Given the description of an element on the screen output the (x, y) to click on. 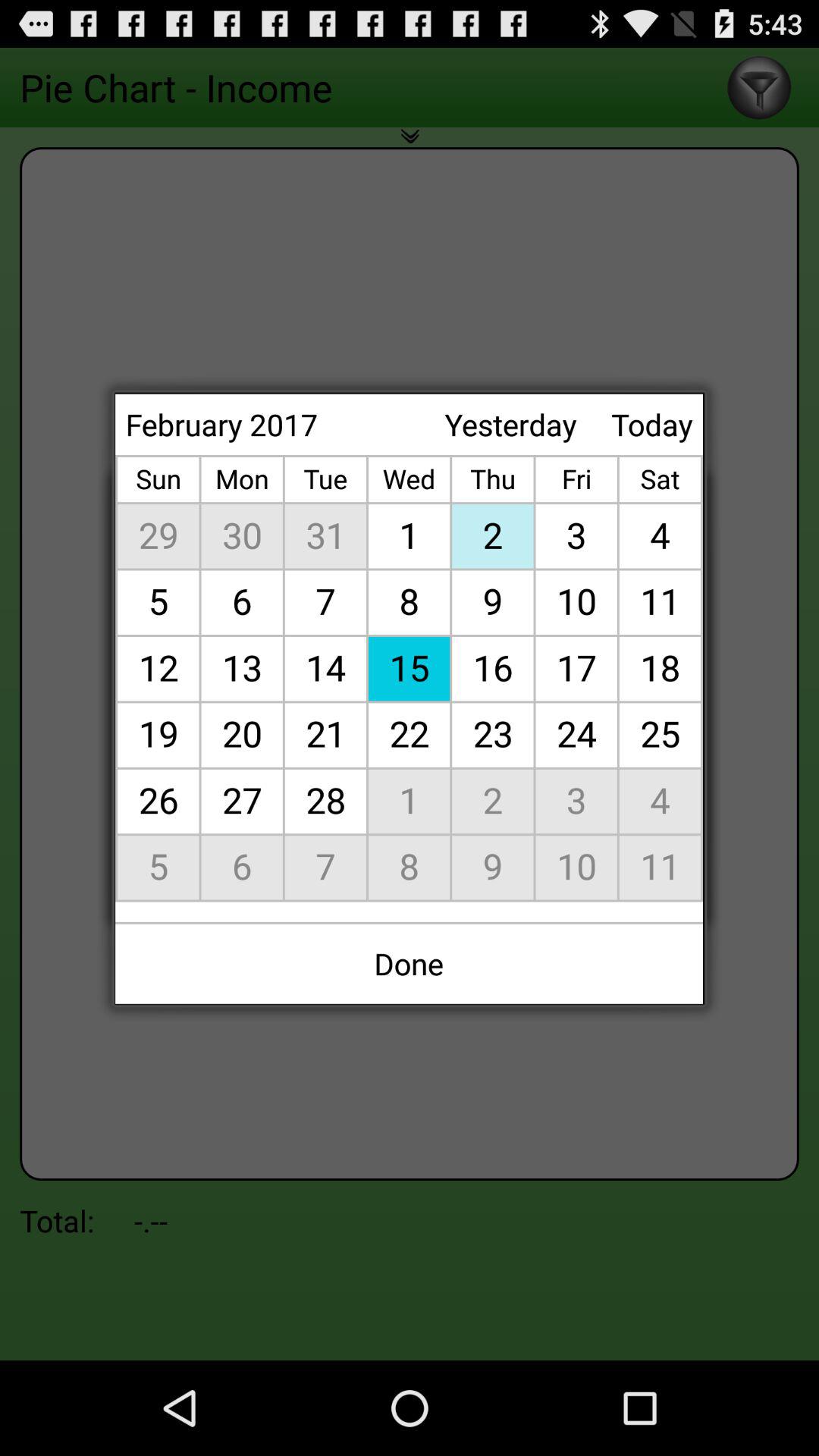
press the item at the top right corner (651, 424)
